Given the description of an element on the screen output the (x, y) to click on. 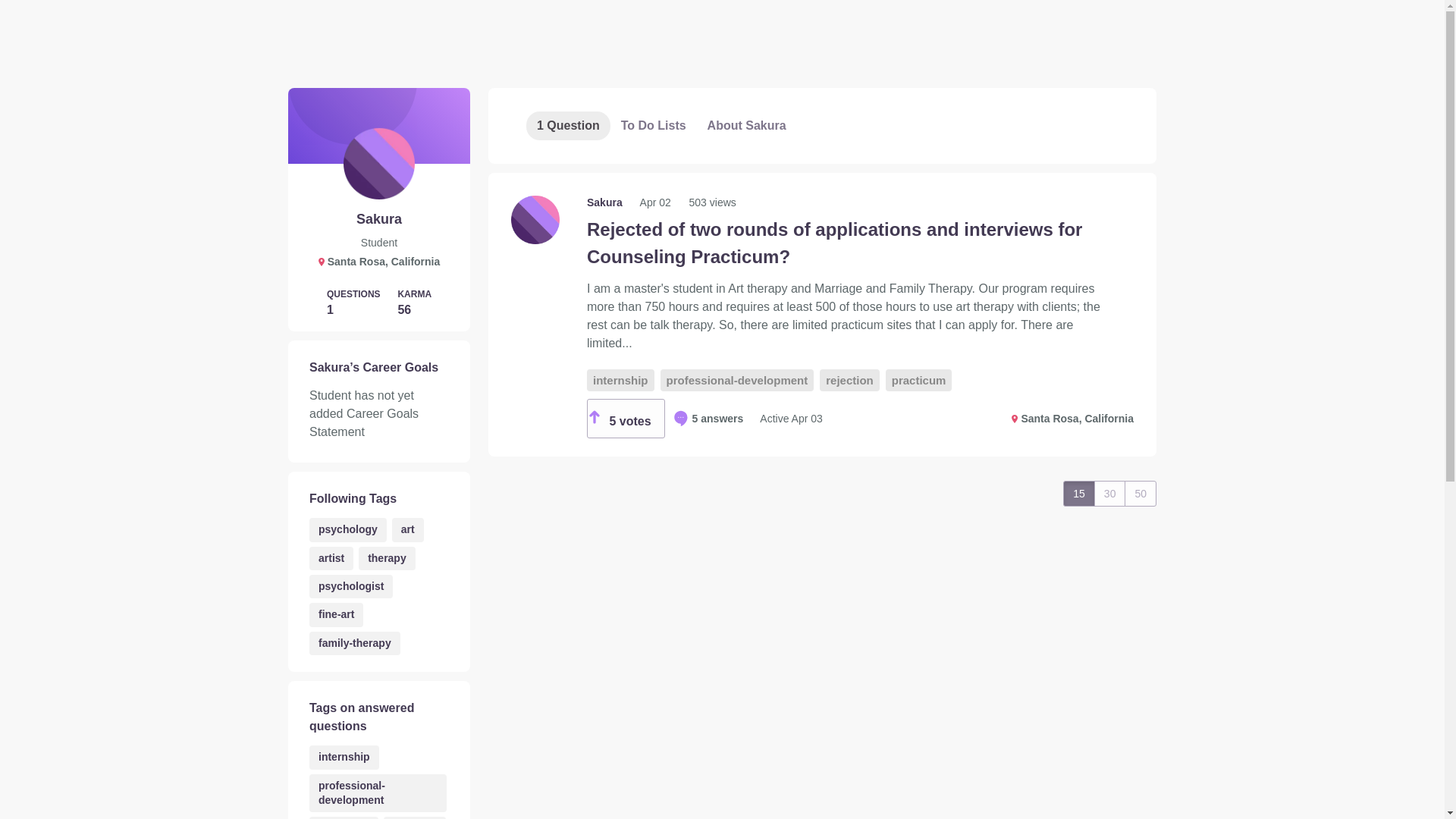
fine-art (335, 614)
5 answers (708, 418)
Sakura (606, 202)
See Career Questions tagged 'Practicum' (343, 817)
See Career Questions tagged 'Rejection' (414, 817)
rejection (414, 817)
See Career Questions tagged 'Artist' (330, 558)
See Career Questions tagged 'Psychologist' (350, 586)
See Career Questions tagged 'Therapy' (386, 558)
psychology (347, 529)
